Given the description of an element on the screen output the (x, y) to click on. 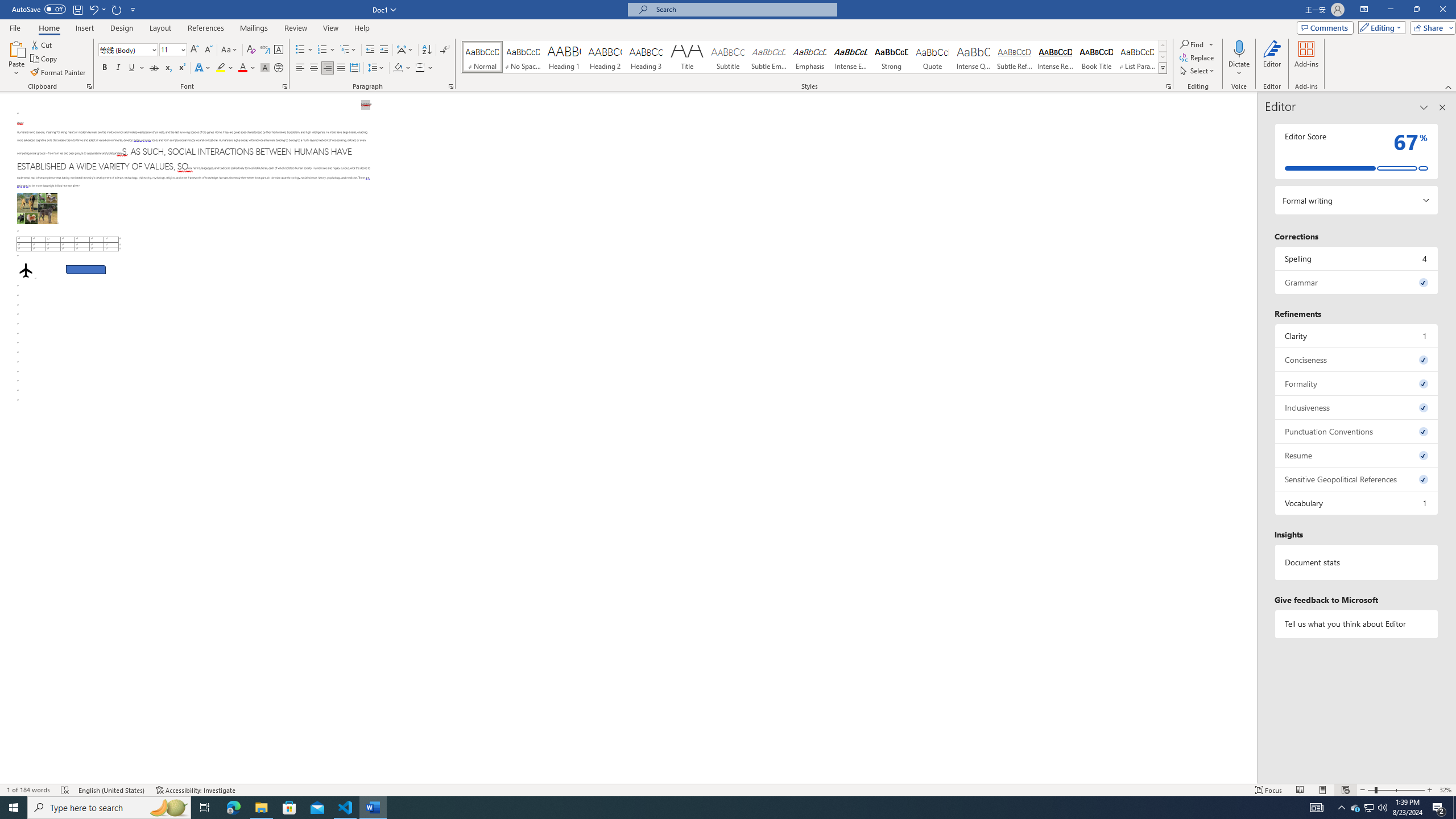
Morphological variation in six dogs (36, 208)
Zoom 32% (1445, 790)
Font Color Red (241, 67)
Conciseness, 0 issues. Press space or enter to review items. (1356, 359)
